Given the description of an element on the screen output the (x, y) to click on. 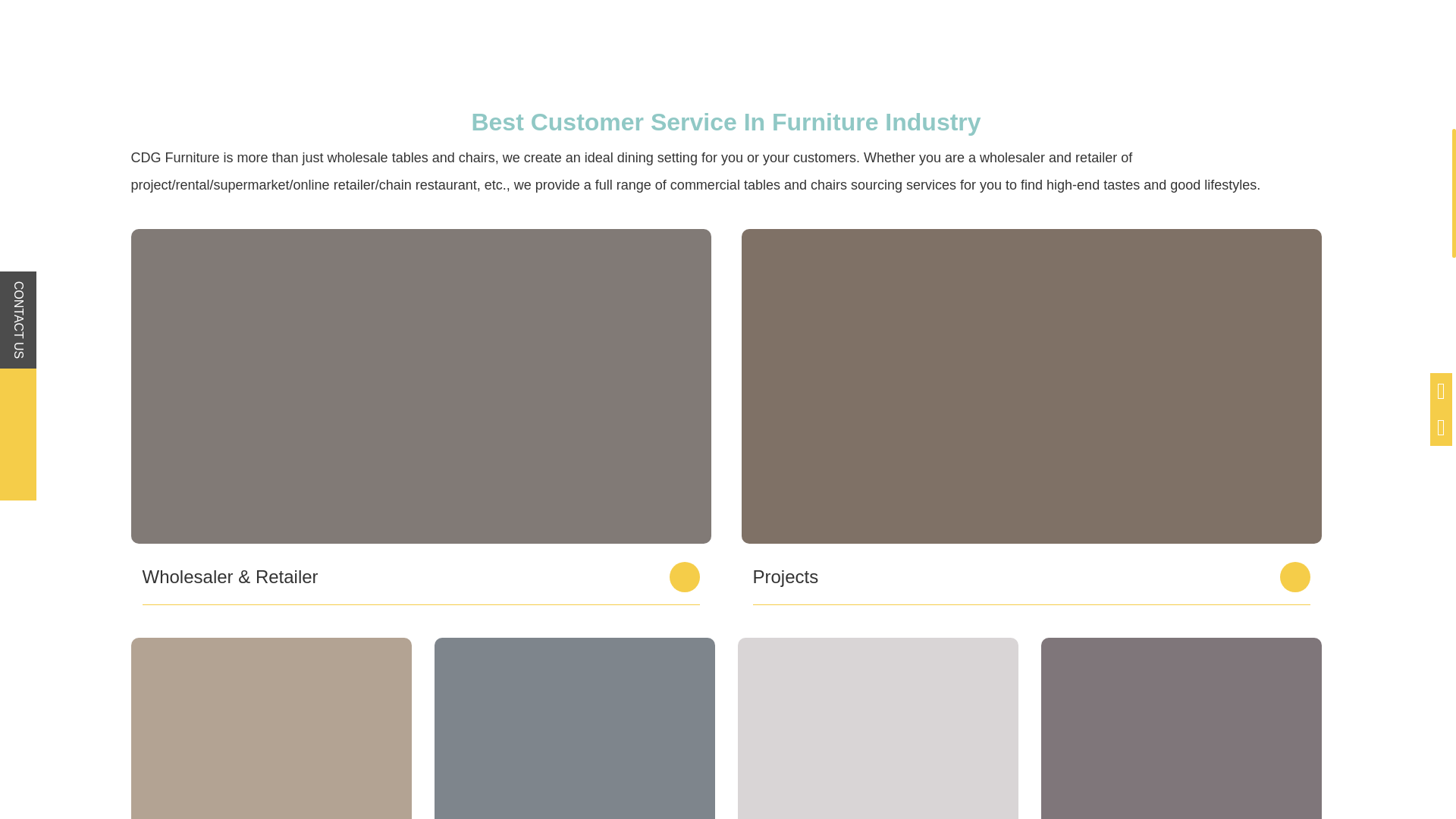
Online Retailer (876, 728)
Chain Restaurant (1180, 728)
